Given the description of an element on the screen output the (x, y) to click on. 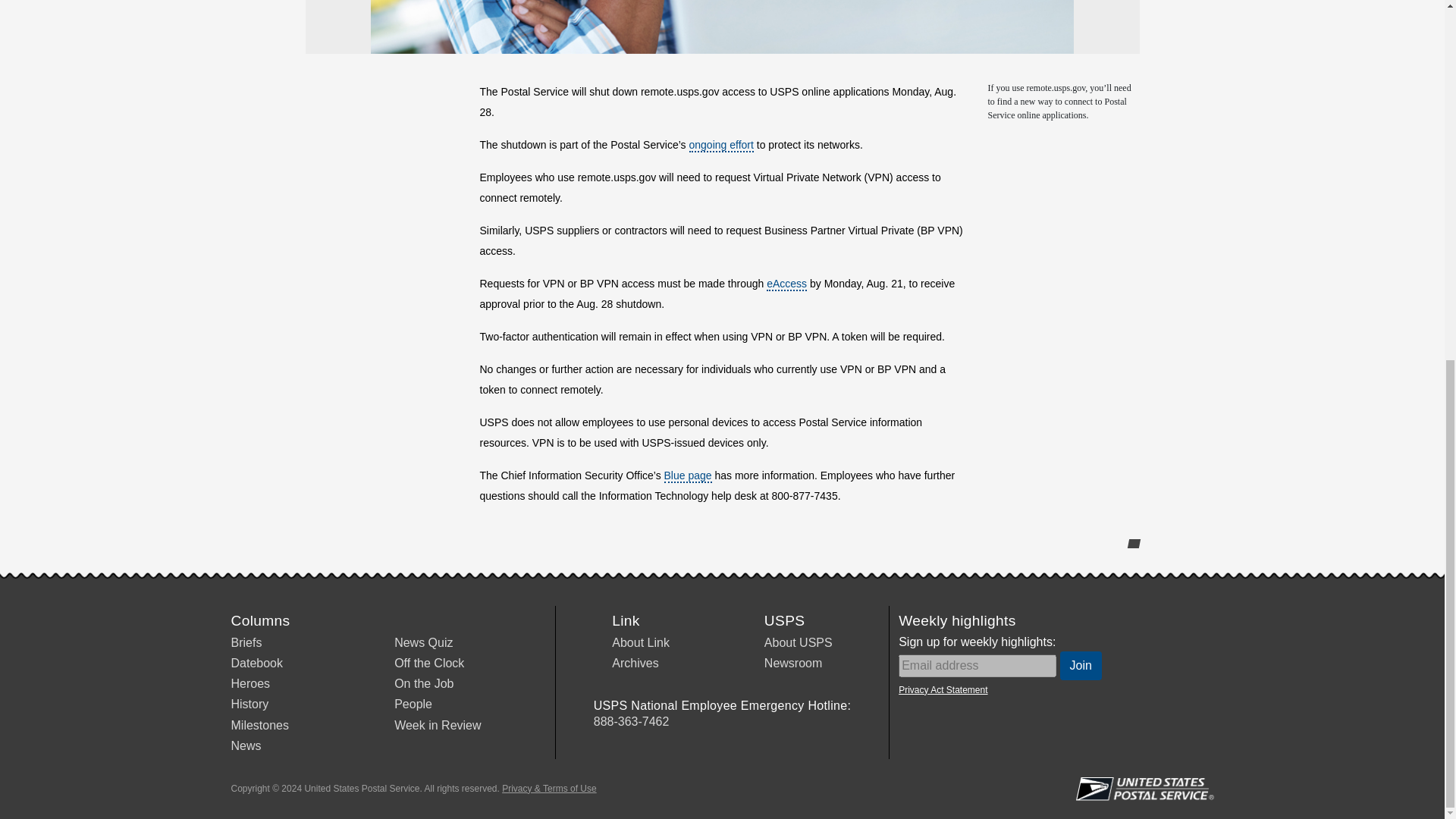
Archives (634, 662)
History (248, 703)
News Quiz (423, 642)
About USPS (798, 642)
Off the Clock (429, 662)
About Link (640, 642)
Week in Review (437, 725)
People (413, 703)
News (245, 745)
On the Job (423, 683)
